Given the description of an element on the screen output the (x, y) to click on. 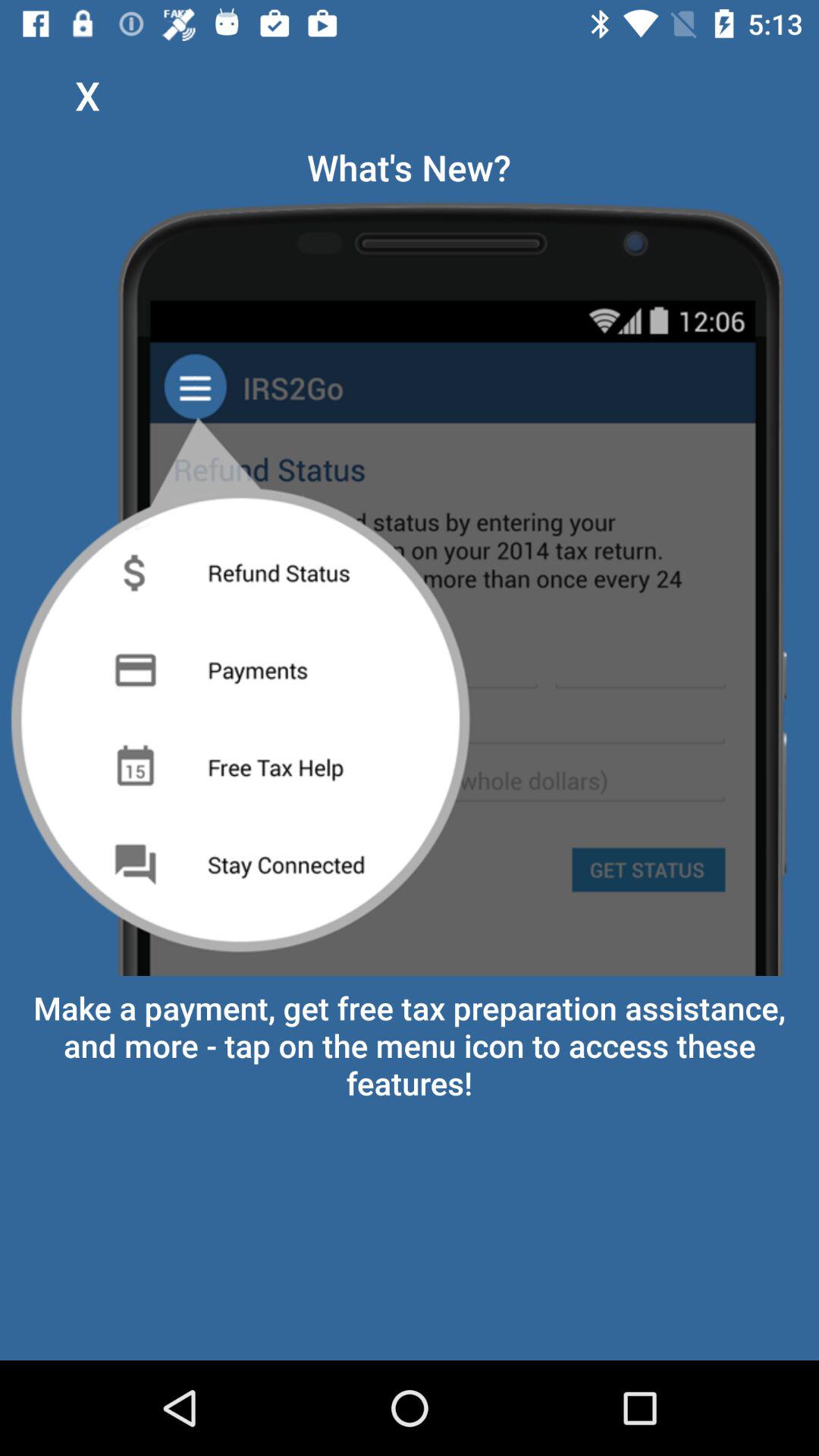
turn off item below what's new? app (409, 583)
